Given the description of an element on the screen output the (x, y) to click on. 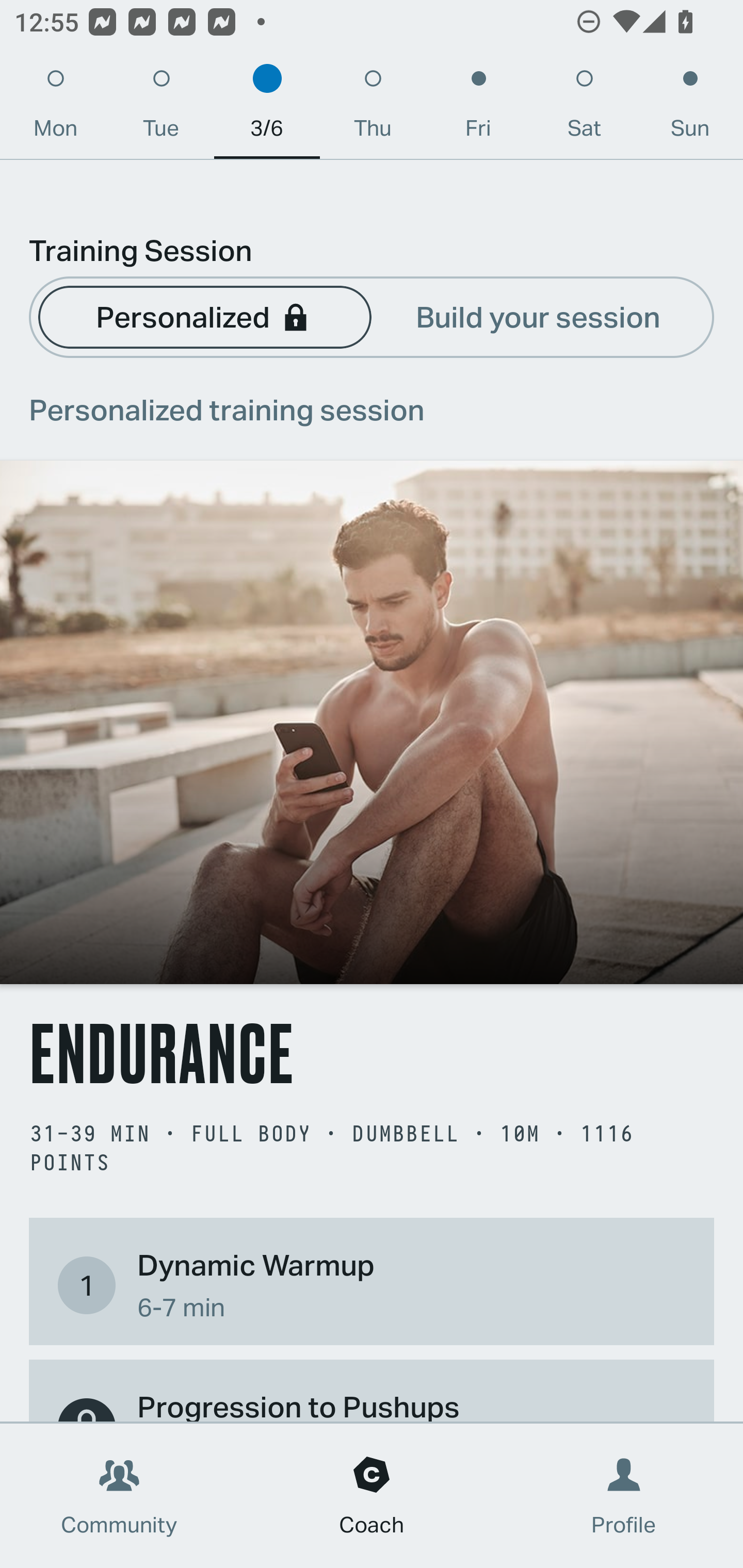
Mon (55, 108)
Tue (160, 108)
3/6 (266, 108)
Thu (372, 108)
Fri (478, 108)
Sat (584, 108)
Sun (690, 108)
Personalized (204, 315)
Build your session (538, 315)
1 Dynamic Warmup 6-7 min (371, 1284)
Community (119, 1495)
Profile (624, 1495)
